Given the description of an element on the screen output the (x, y) to click on. 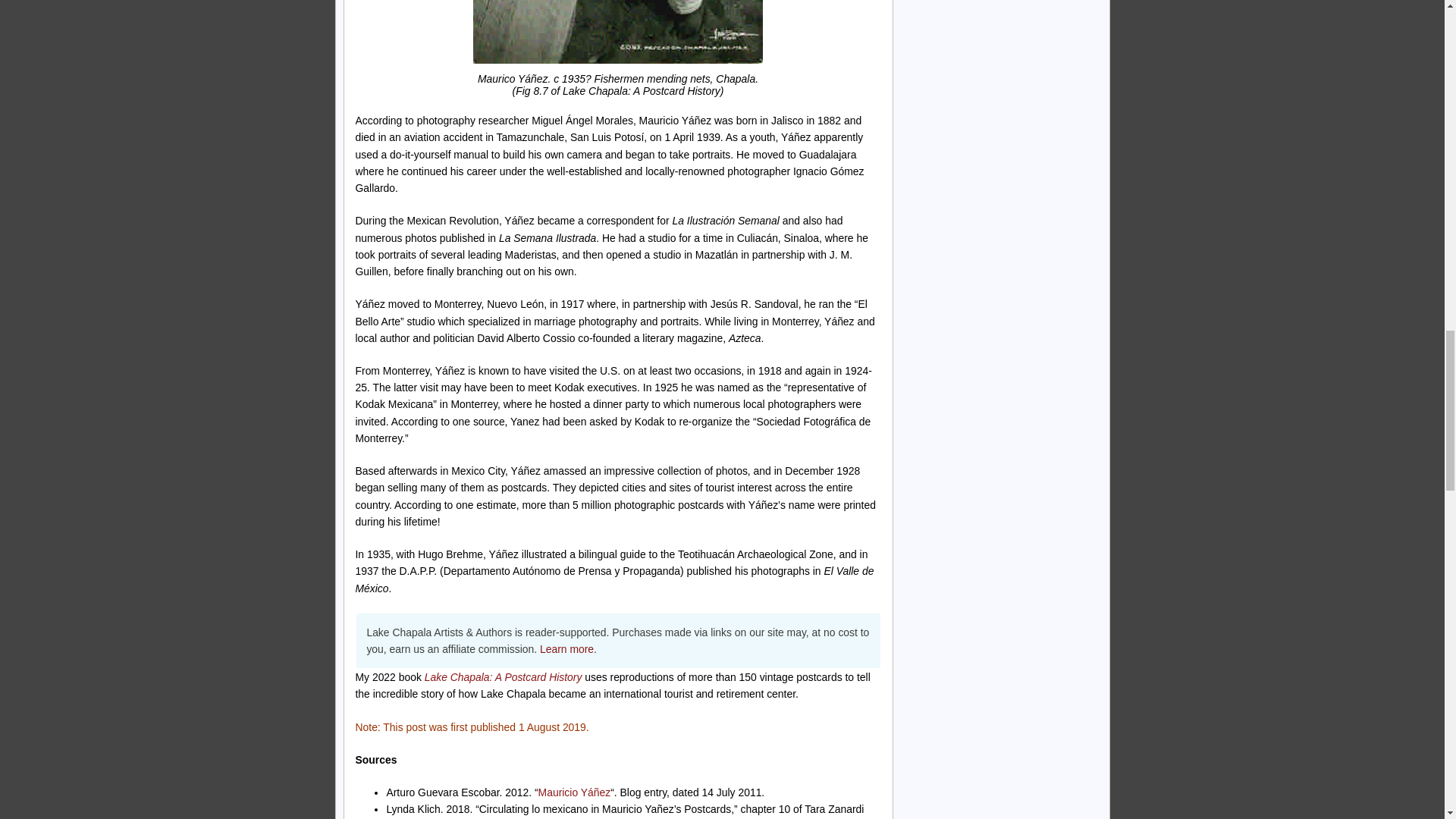
Learn more. (568, 648)
Lake Chapala: A Postcard History (503, 676)
